Given the description of an element on the screen output the (x, y) to click on. 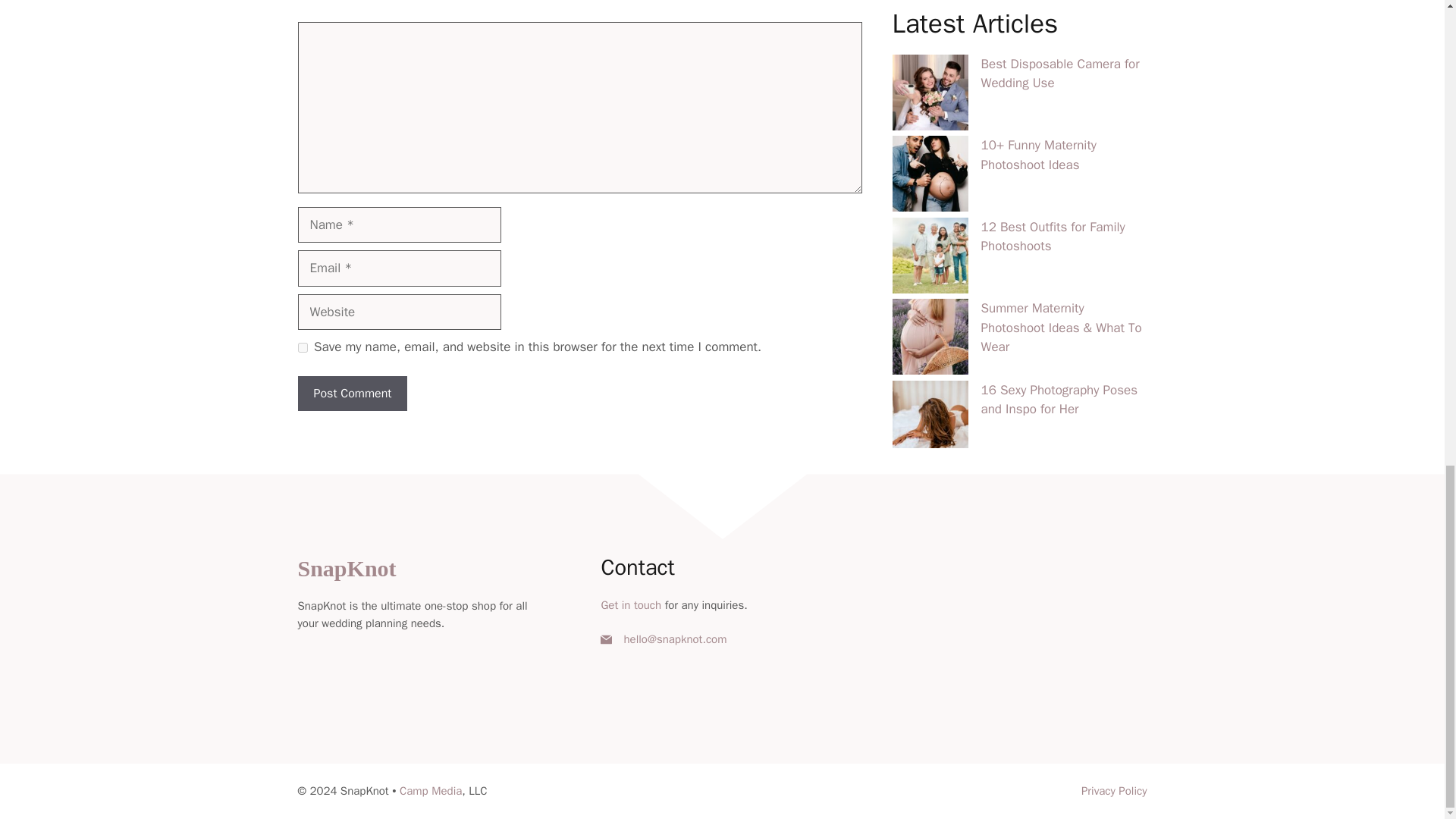
Privacy Policy (1114, 790)
Camp Media (429, 790)
Post Comment (352, 393)
yes (302, 347)
Post Comment (352, 393)
Get in touch (630, 604)
Scroll back to top (1406, 450)
